Given the description of an element on the screen output the (x, y) to click on. 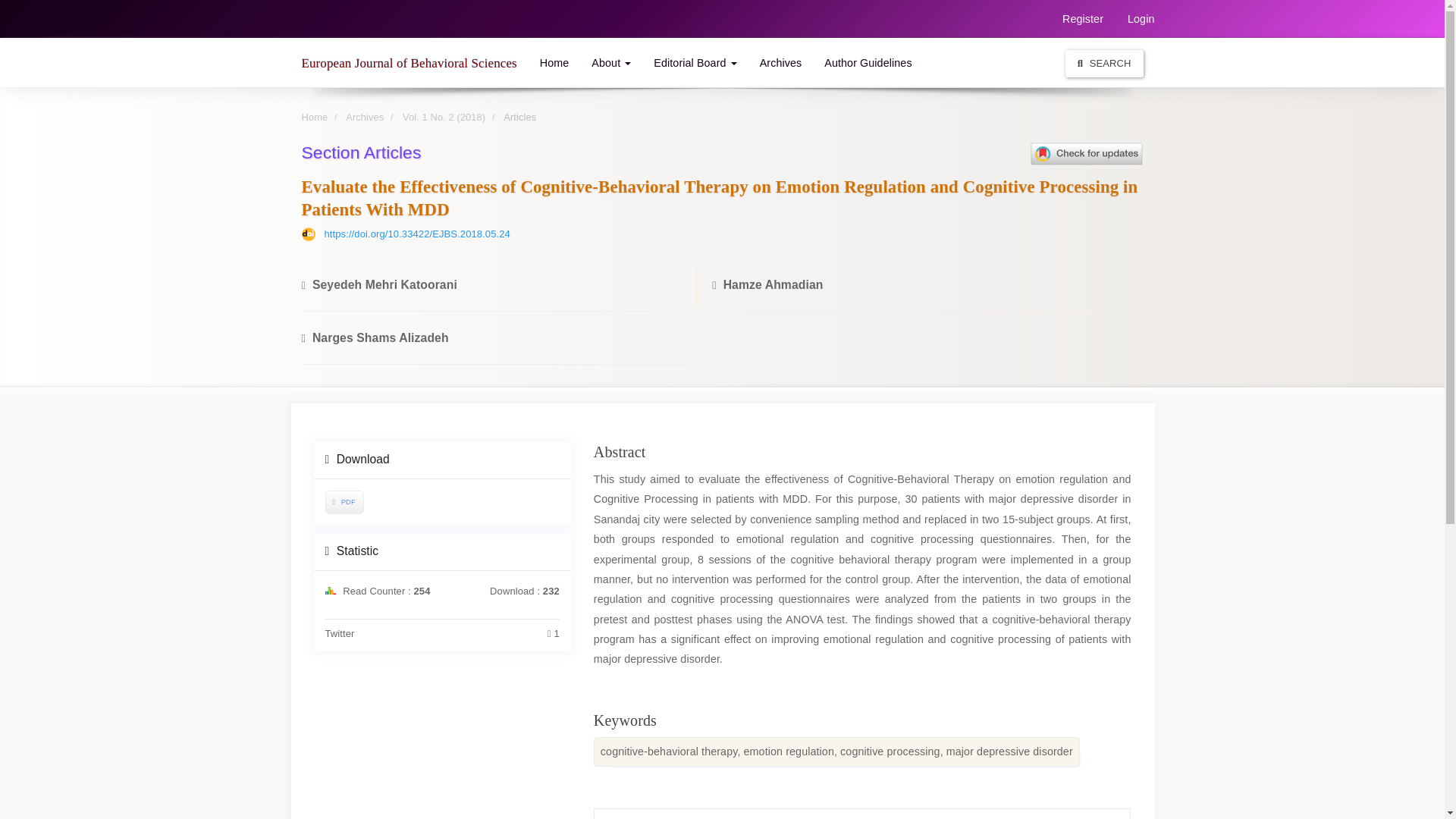
Home (315, 116)
PDF (343, 502)
Home (554, 62)
Editorial Board (695, 62)
Archives (365, 116)
European Journal of Behavioral Sciences (408, 62)
SEARCH (1103, 62)
Login (1141, 18)
SEARCH (1103, 62)
Author Guidelines (867, 62)
Download on article page (343, 501)
Register (1083, 18)
About (610, 62)
Archives (780, 62)
